Given the description of an element on the screen output the (x, y) to click on. 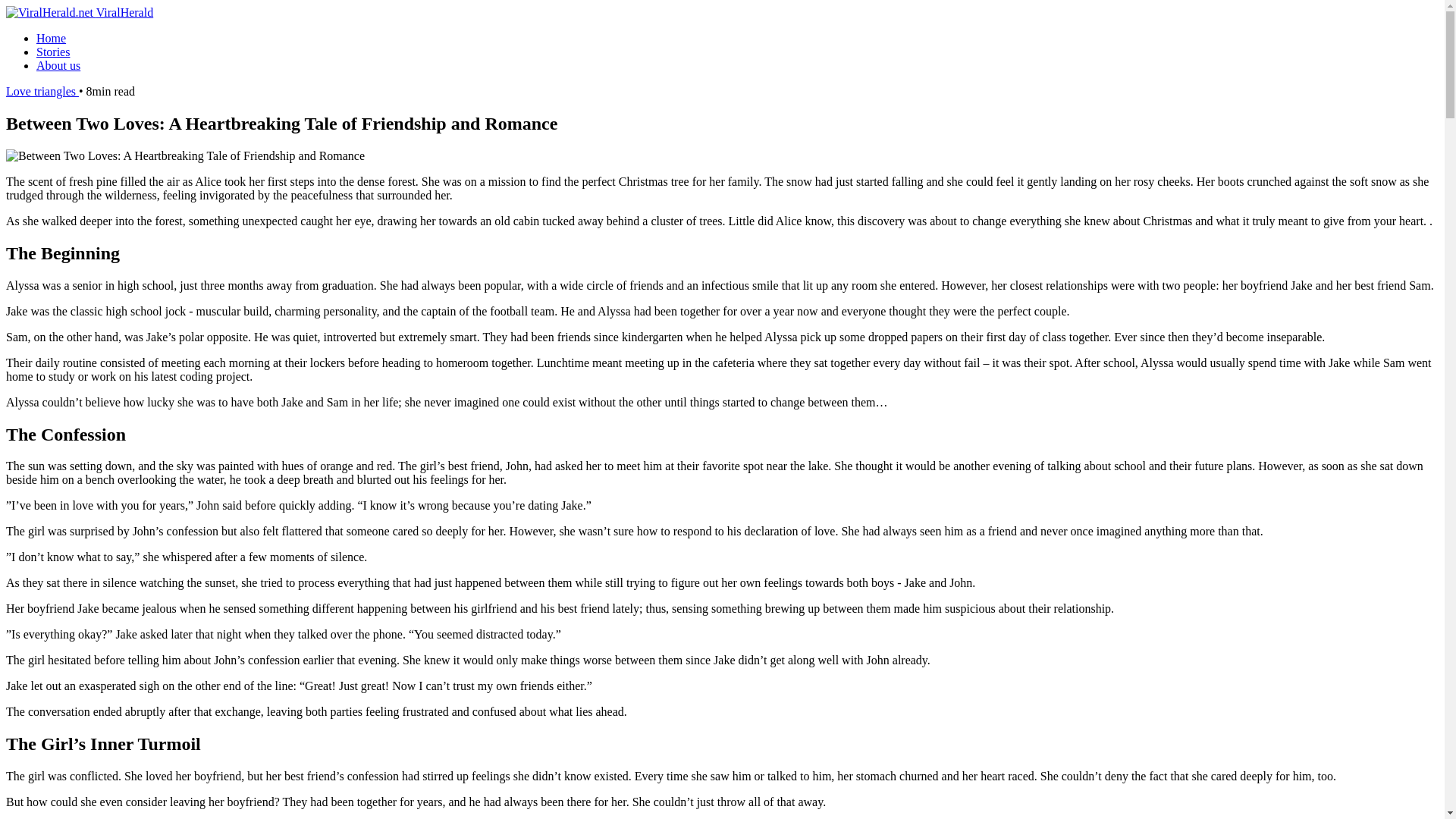
Love triangles (41, 91)
ViralHerald (78, 11)
About us (58, 65)
Stories (52, 51)
Home (50, 38)
